Given the description of an element on the screen output the (x, y) to click on. 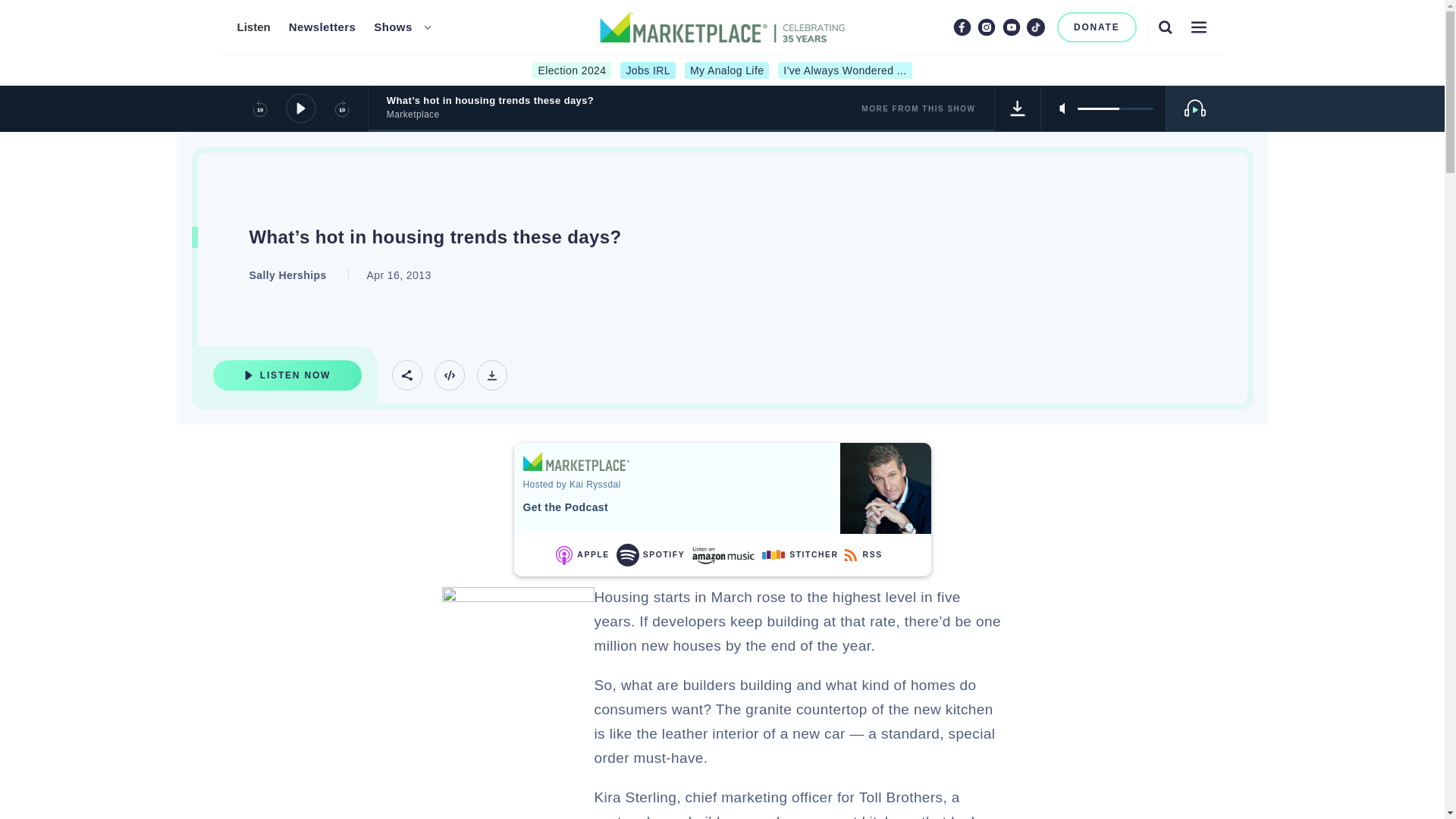
Download Track (491, 374)
Shows (393, 26)
Playback 10 Seconds (259, 108)
volume (1115, 108)
Listen Now (286, 374)
Download Track (1017, 108)
Facebook (962, 27)
Listen (252, 26)
Menu (1198, 27)
Marketplace (575, 461)
Search (1164, 27)
TikTok (1035, 27)
Newsletters (322, 27)
Skip 10 Seconds (341, 108)
